Given the description of an element on the screen output the (x, y) to click on. 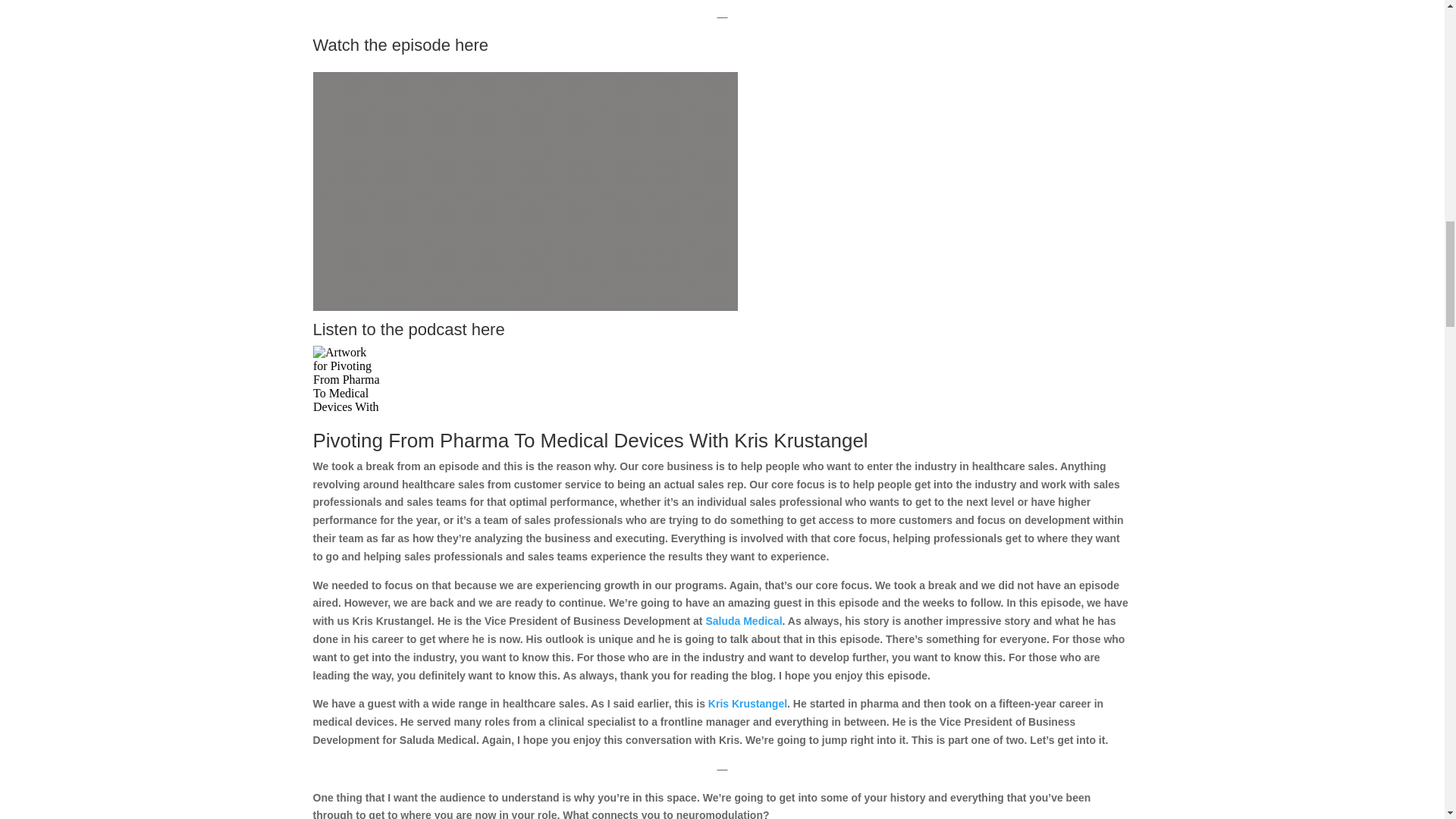
Libsyn Player (722, 379)
Saluda Medical (742, 621)
Kris Krustangel (747, 703)
